Given the description of an element on the screen output the (x, y) to click on. 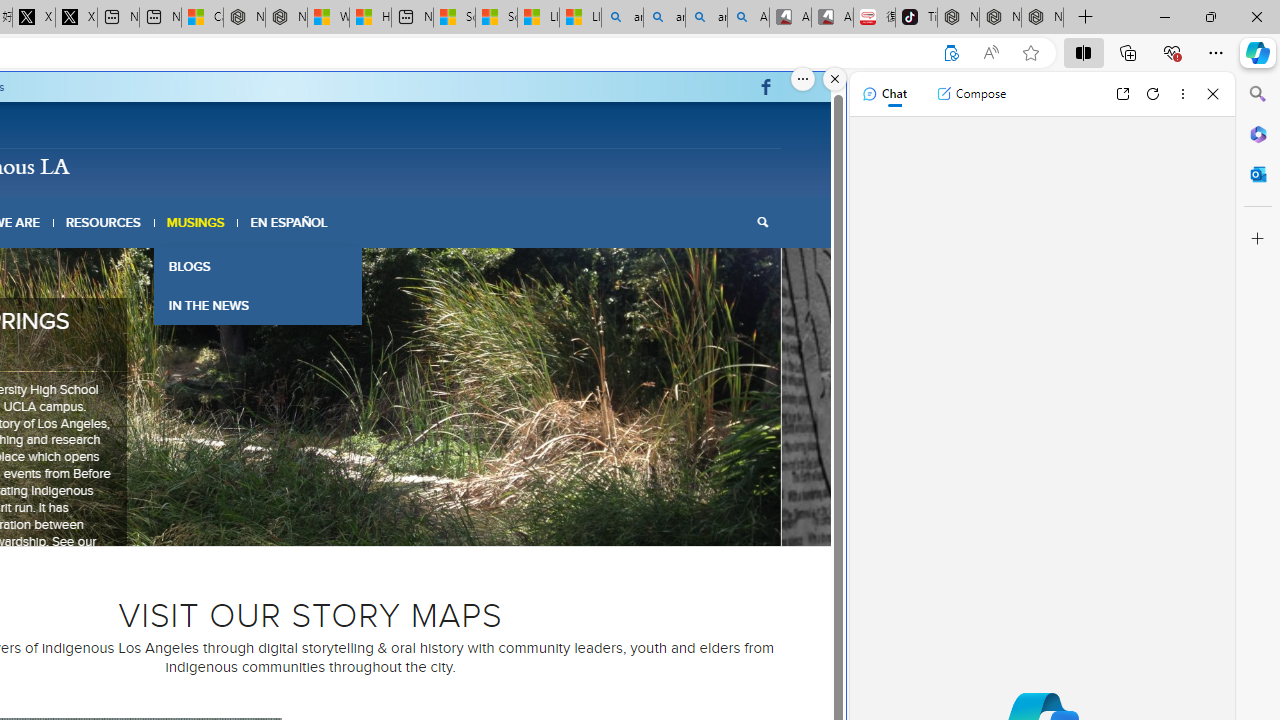
Nordace - Siena Pro 15 Essential Set (1042, 17)
MUSINGS (195, 222)
amazon - Search Images (706, 17)
